Given the description of an element on the screen output the (x, y) to click on. 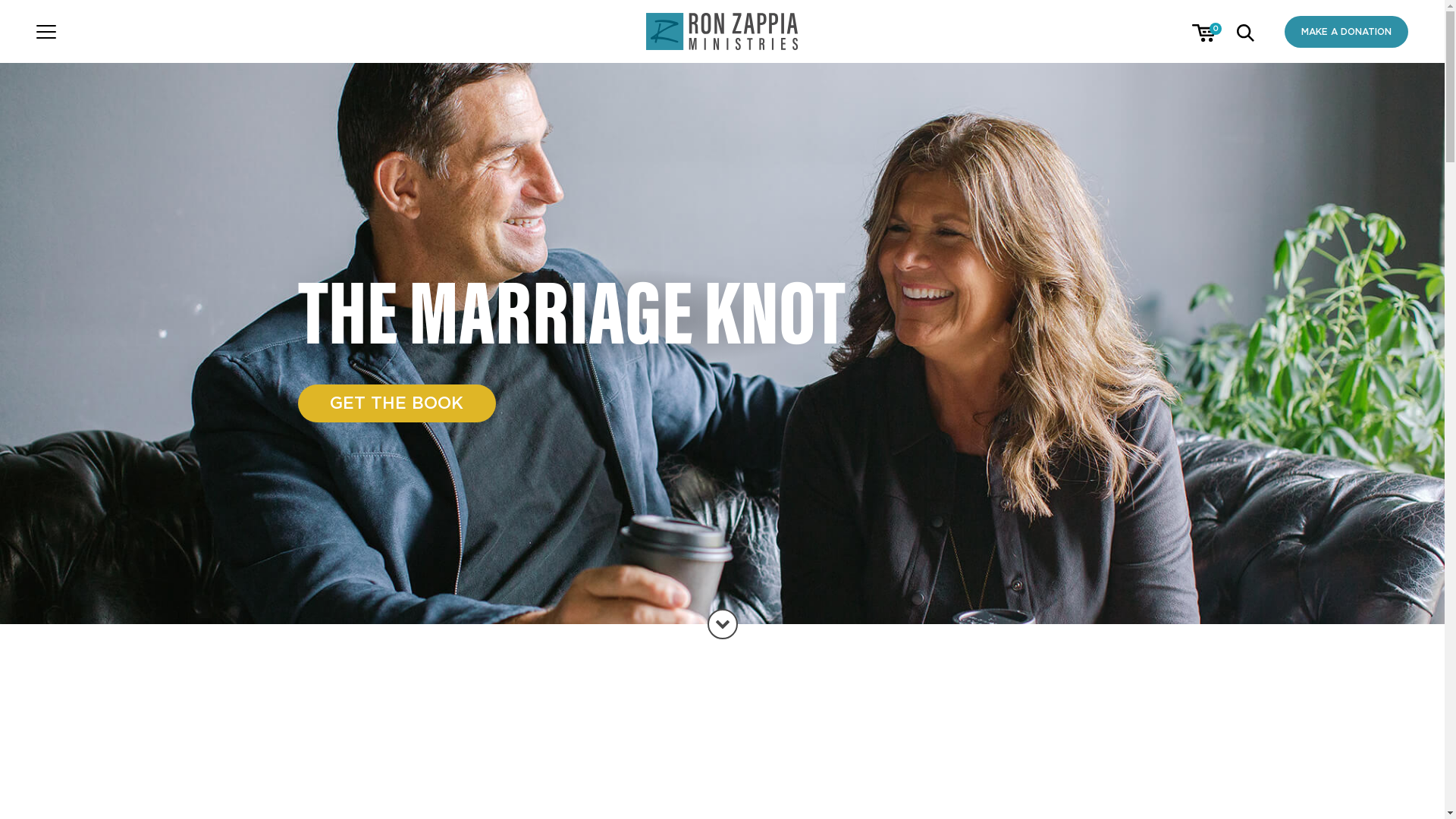
MAKE A DONATION Element type: text (1346, 31)
GET THE BOOK Element type: text (396, 403)
